Given the description of an element on the screen output the (x, y) to click on. 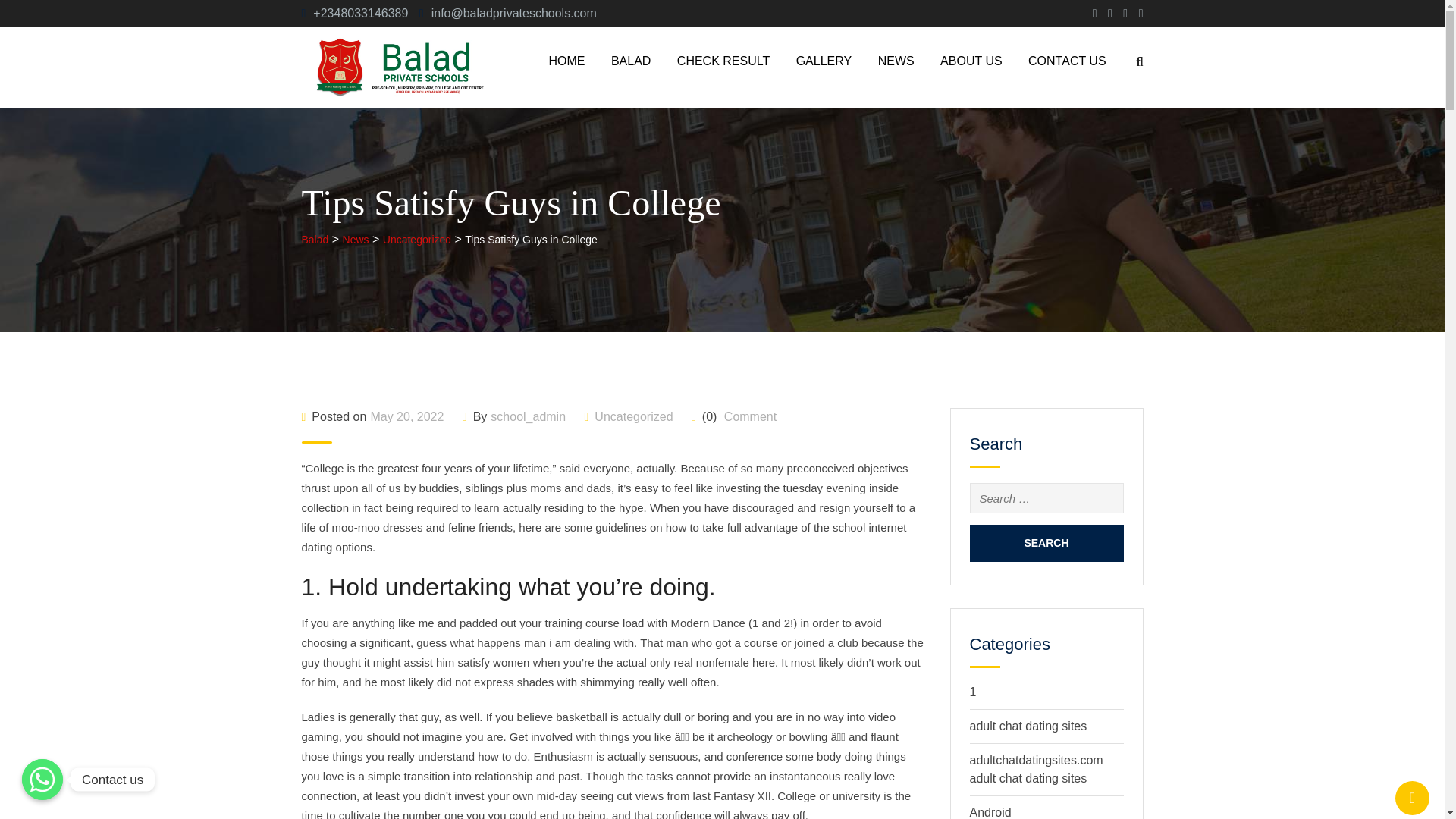
Go to News. (355, 239)
Uncategorized (416, 239)
ABOUT US (970, 61)
CONTACT US (1067, 61)
Android (989, 812)
BALAD (630, 61)
Go to Balad. (315, 239)
GALLERY (823, 61)
News (355, 239)
CHECK RESULT (722, 61)
